Given the description of an element on the screen output the (x, y) to click on. 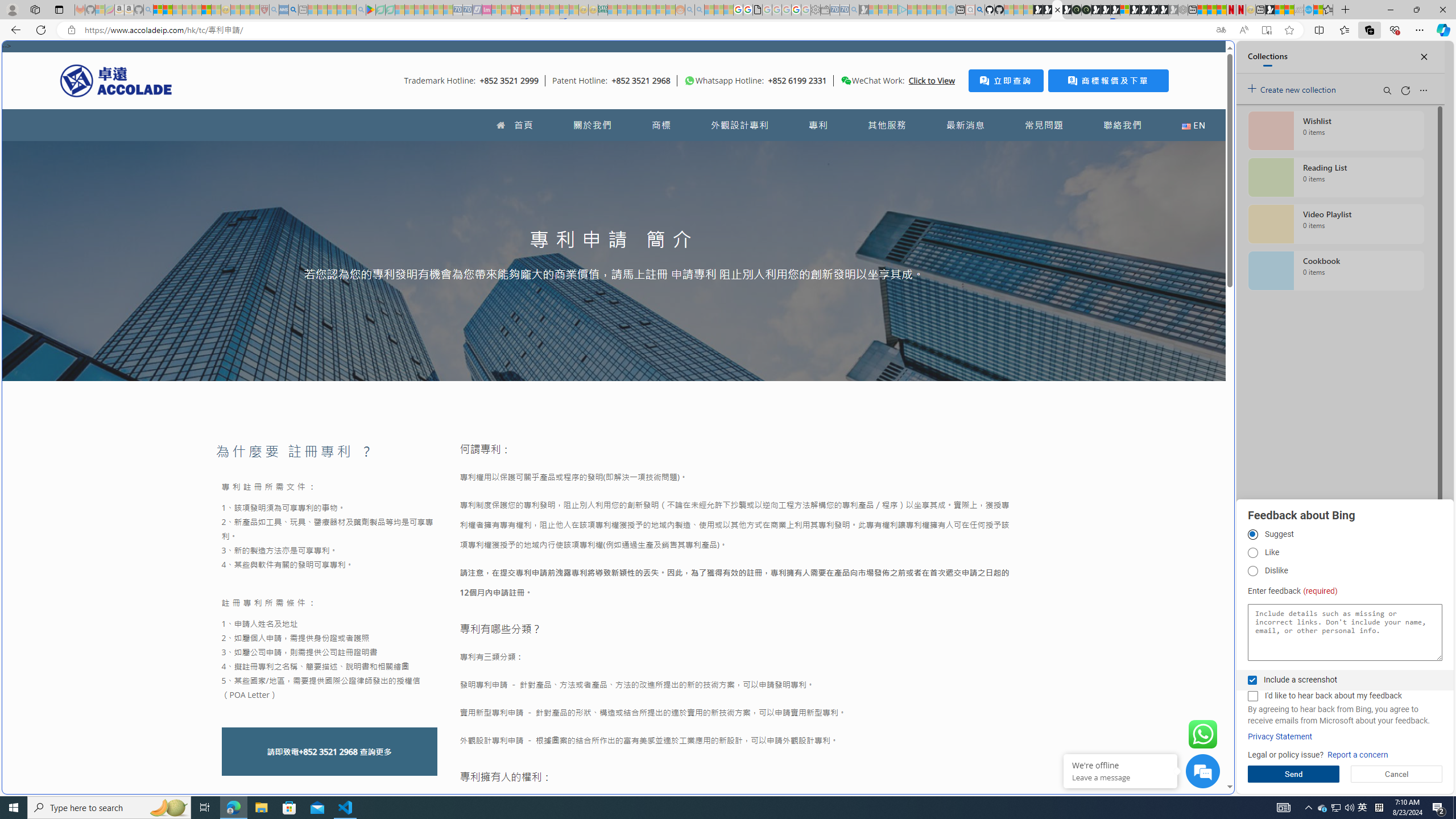
EN (1193, 124)
